Given the description of an element on the screen output the (x, y) to click on. 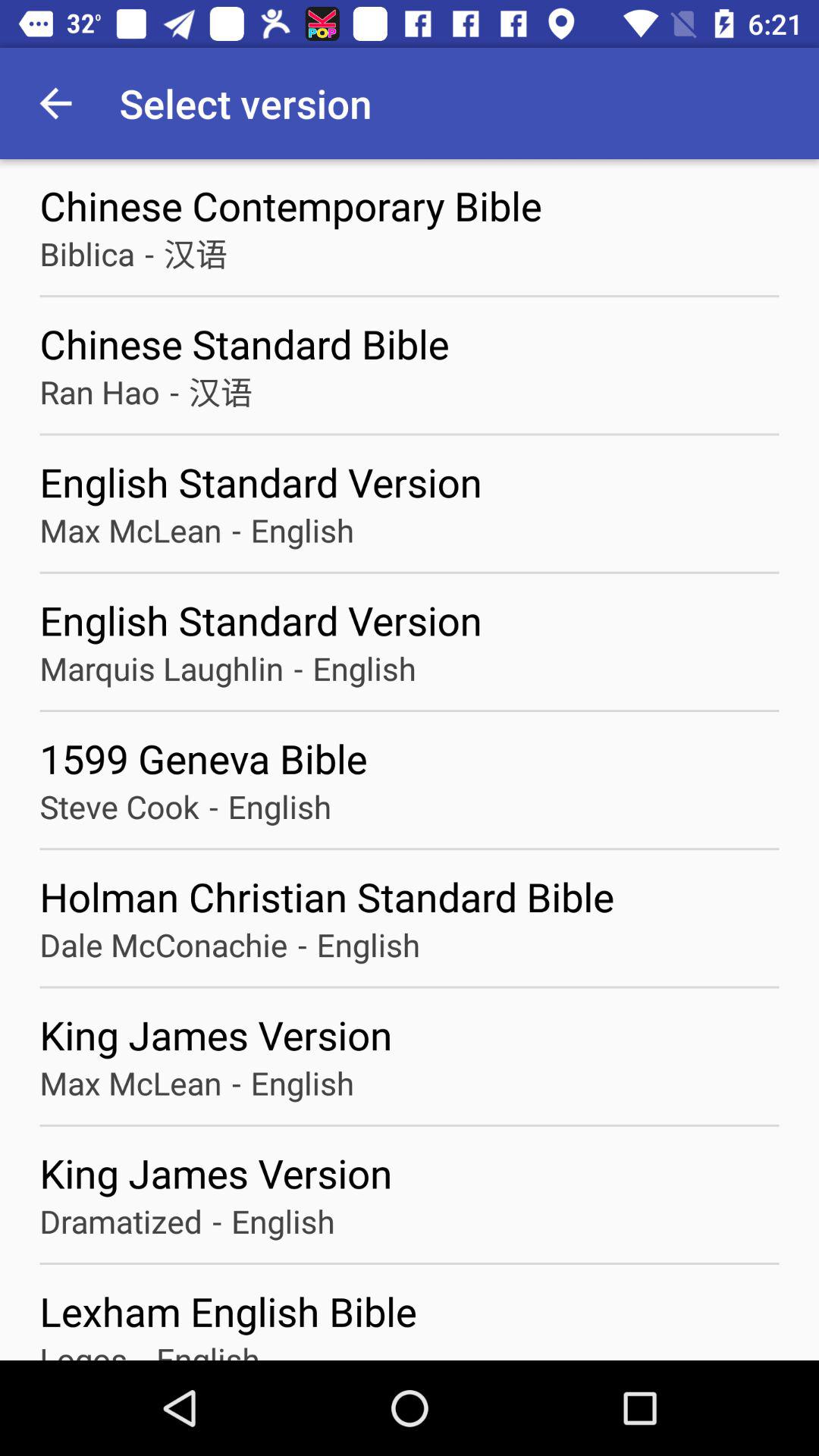
launch the icon next to the select version (55, 103)
